Given the description of an element on the screen output the (x, y) to click on. 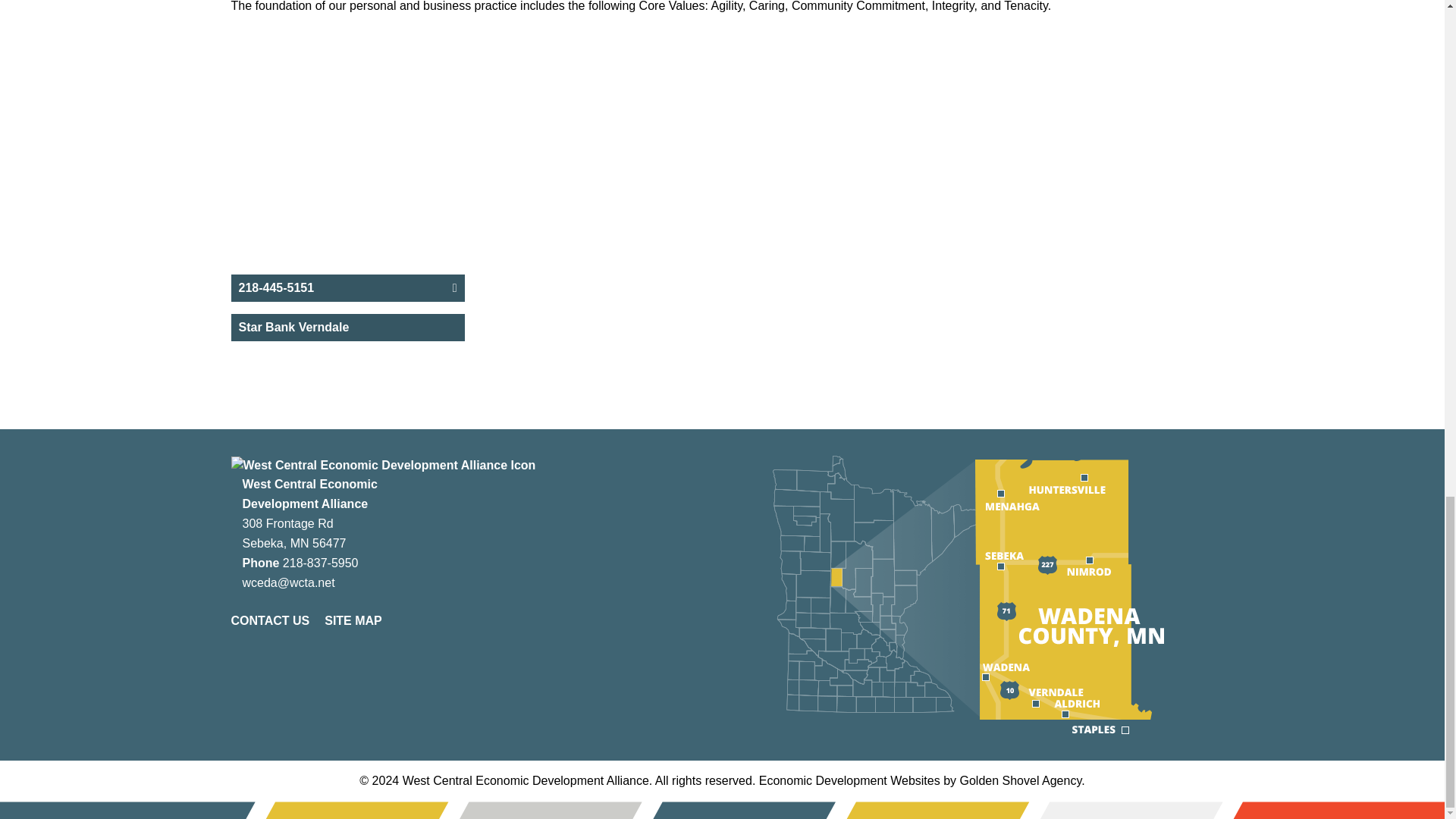
CONTACT US (269, 620)
Star Bank Verndale (347, 332)
218-837-5950 (318, 562)
218-445-5151 (347, 293)
